Given the description of an element on the screen output the (x, y) to click on. 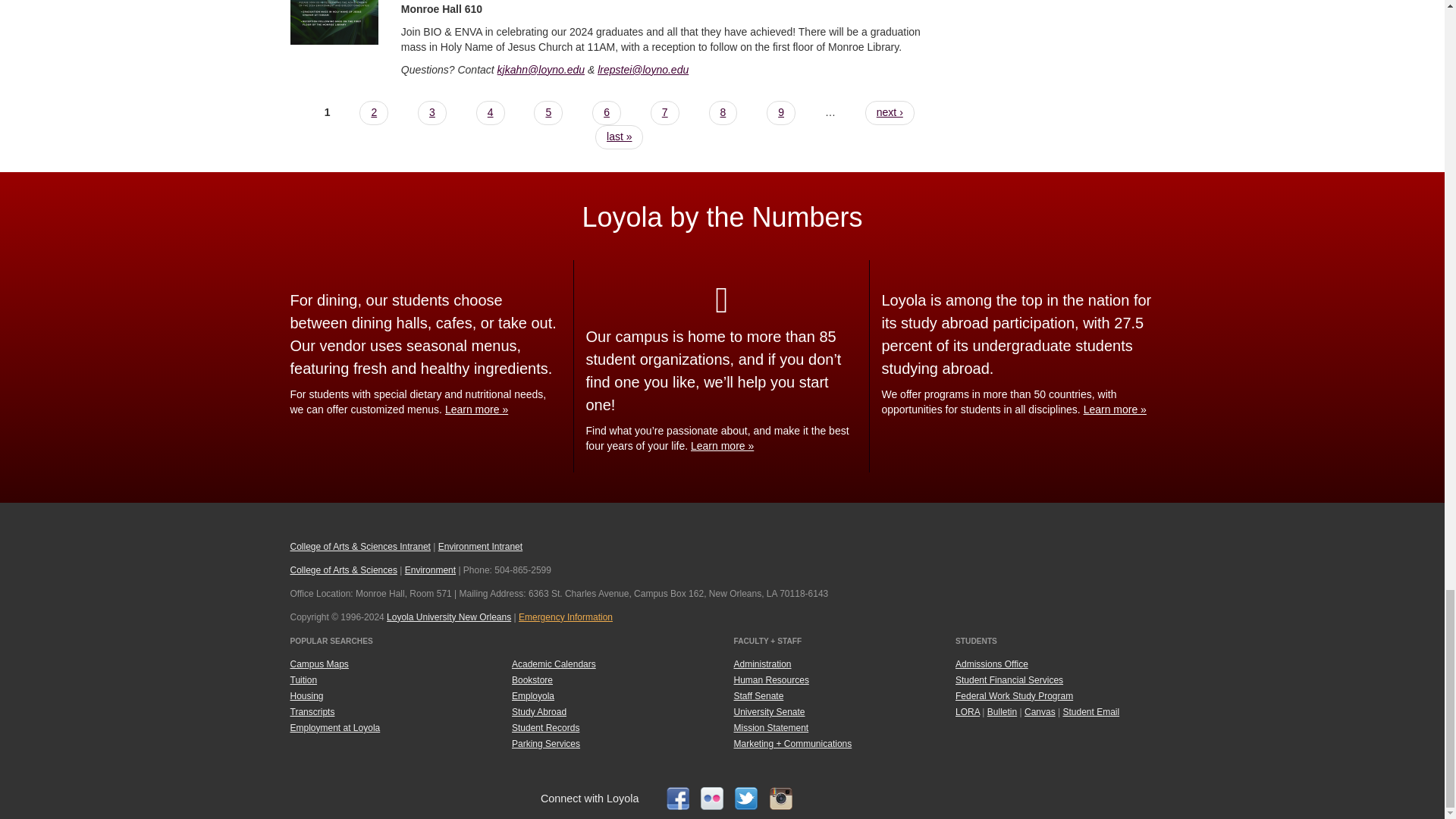
Go to page 5 (548, 112)
Go to page 7 (664, 112)
Go to page 8 (723, 112)
Go to page 4 (490, 112)
Go to page 2 (373, 112)
Go to page 6 (606, 112)
Go to page 3 (431, 112)
